Given the description of an element on the screen output the (x, y) to click on. 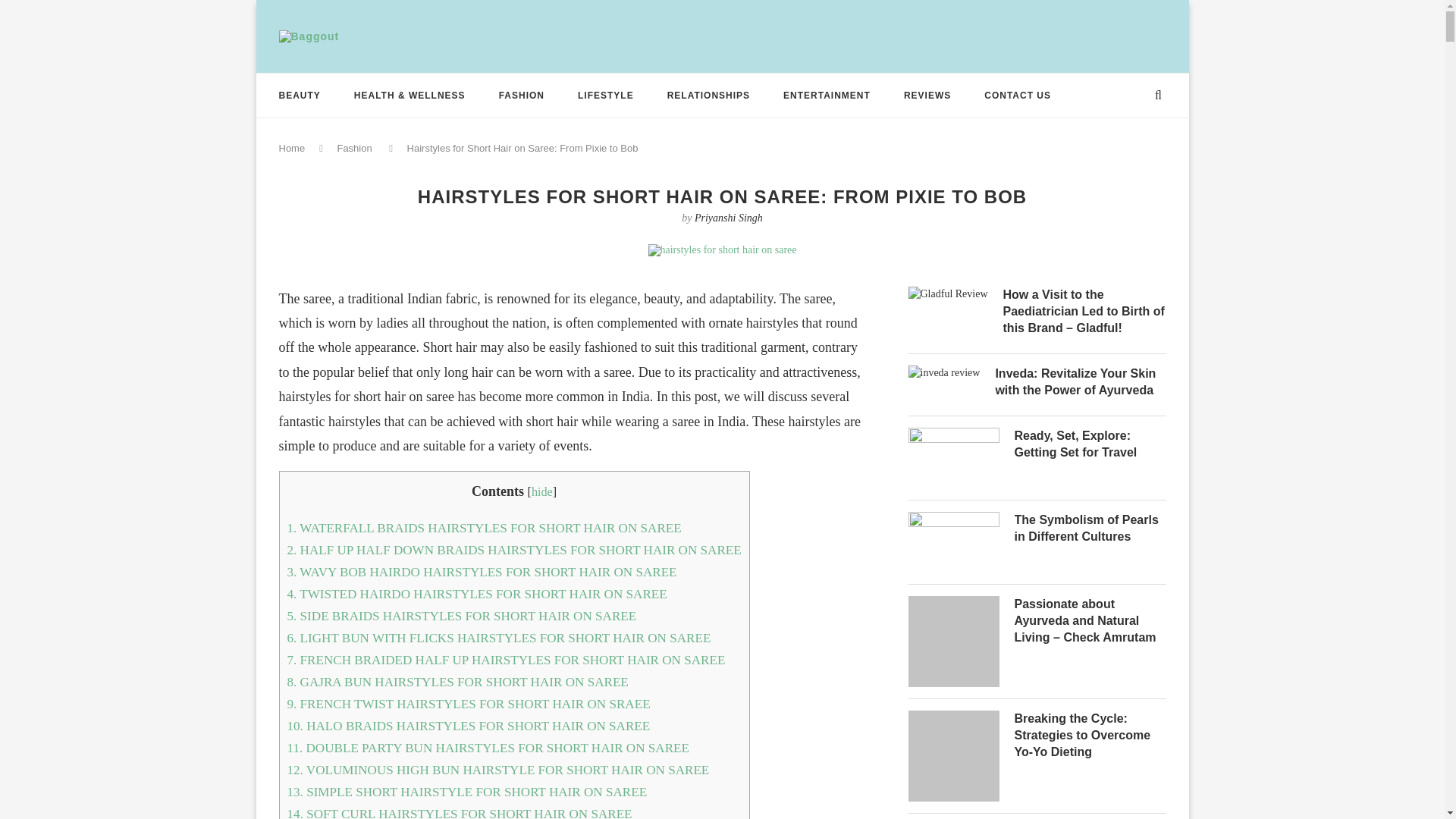
1. WATERFALL BRAIDS HAIRSTYLES FOR SHORT HAIR ON SAREE (483, 527)
9. FRENCH TWIST HAIRSTYLES FOR SHORT HAIR ON SRAEE (467, 703)
hide (542, 491)
CONTACT US (1017, 95)
Ready, Set, Explore: Getting Set for Travel (1090, 444)
7. FRENCH BRAIDED HALF UP HAIRSTYLES FOR SHORT HAIR ON SAREE (505, 659)
Inveda: Revitalize Your Skin with the Power of Ayurveda (943, 374)
FASHION (521, 95)
REVIEWS (927, 95)
6. LIGHT BUN WITH FLICKS HAIRSTYLES FOR SHORT HAIR ON SAREE (498, 637)
Breaking the Cycle: Strategies to Overcome Yo-Yo Dieting (1090, 735)
11. DOUBLE PARTY BUN HAIRSTYLES FOR SHORT HAIR ON SAREE (487, 748)
LIFESTYLE (605, 95)
Priyanshi Singh (728, 217)
Ready, Set, Explore: Getting Set for Travel (953, 437)
